Given the description of an element on the screen output the (x, y) to click on. 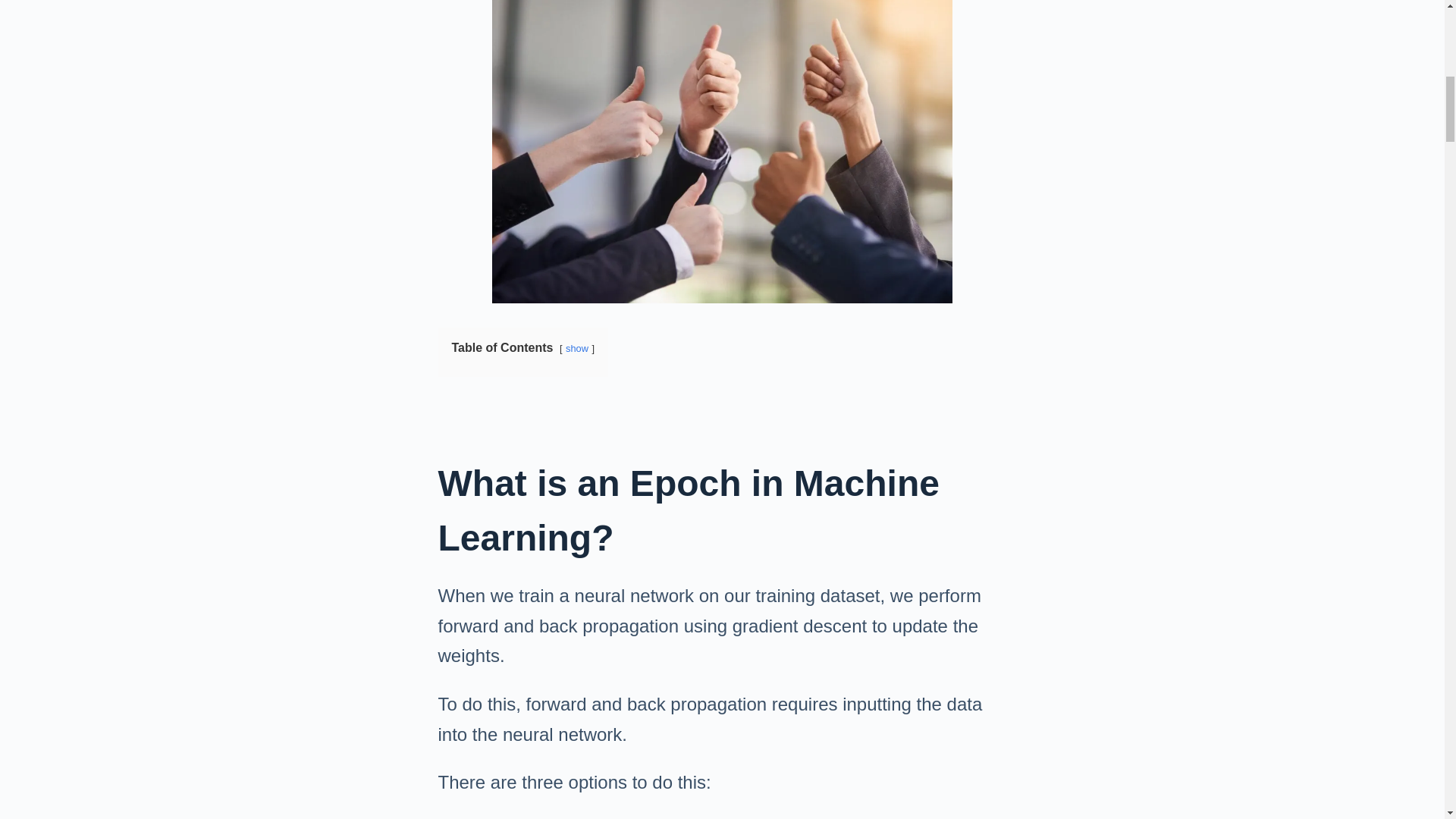
show (577, 348)
